Given the description of an element on the screen output the (x, y) to click on. 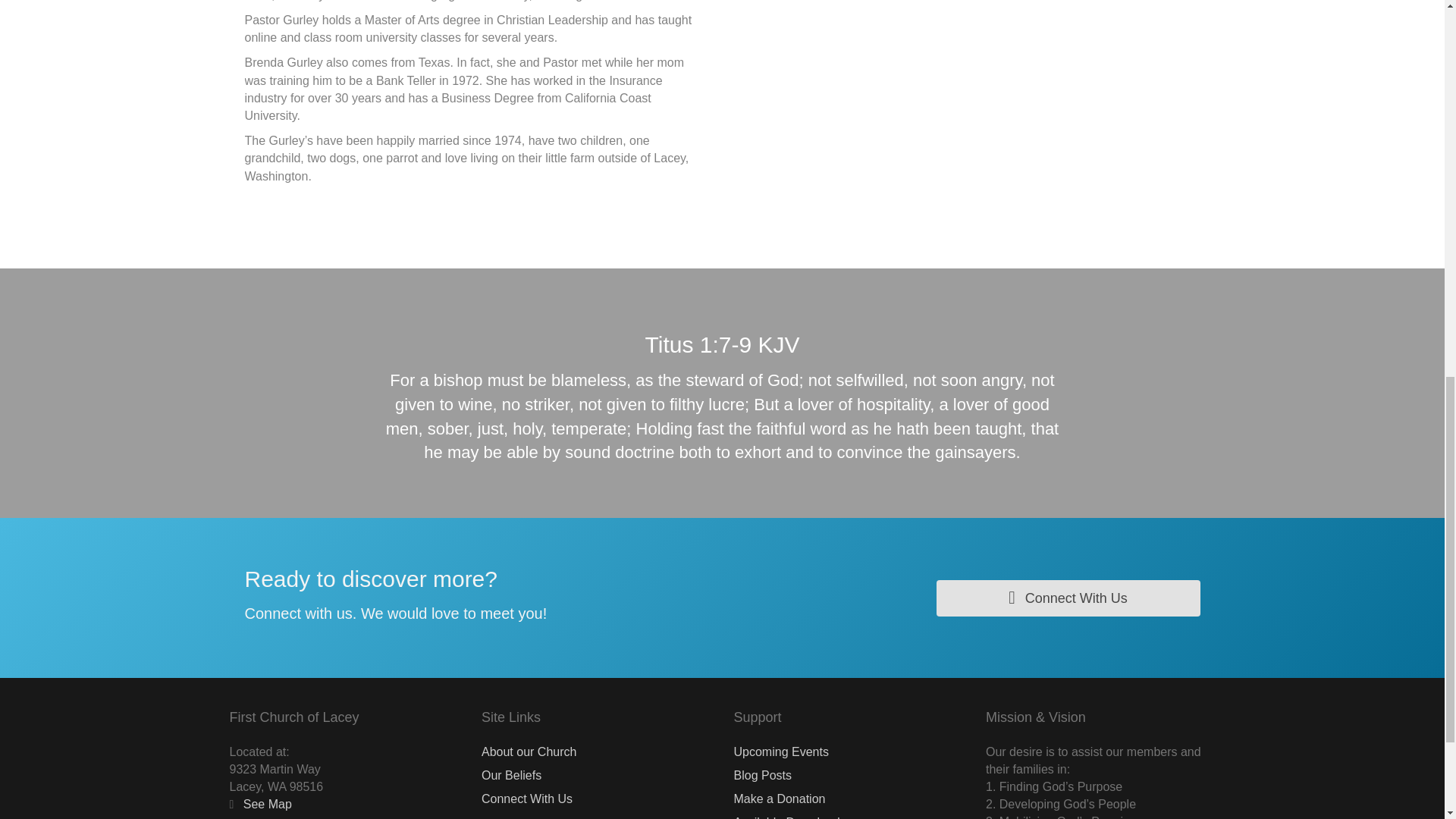
Upcoming Events (780, 751)
Connect With Us (526, 798)
About our Church (528, 751)
Our Beliefs (511, 775)
Available Downloads (789, 817)
See Map (265, 803)
Connect With Us (1067, 597)
Make a Donation (779, 798)
Blog Posts (762, 775)
